Given the description of an element on the screen output the (x, y) to click on. 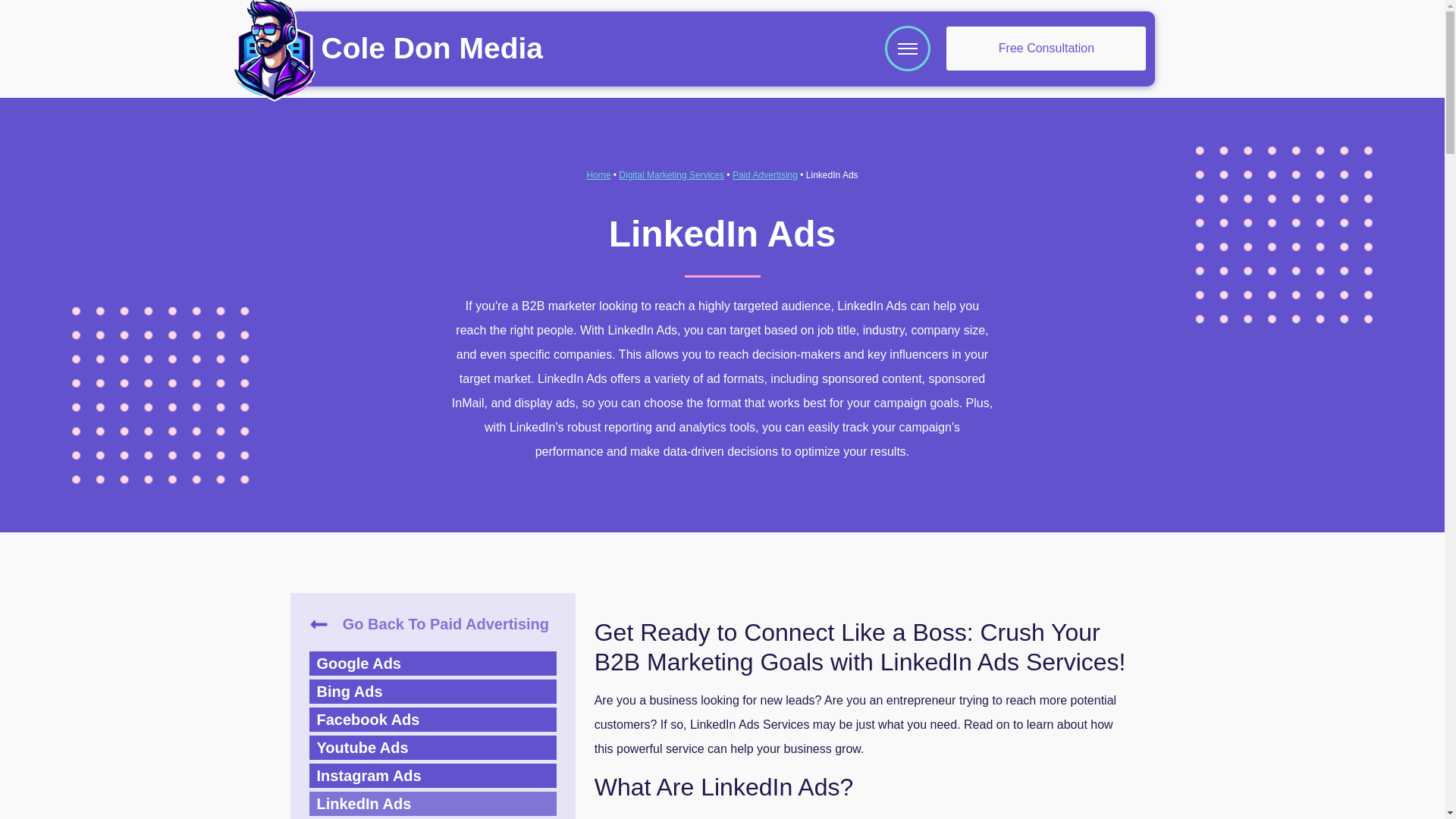
Cole Don Media (431, 47)
Free Consultation (1045, 48)
Instagram Ads (432, 775)
Google Ads (432, 663)
Bing Ads (432, 691)
Paid Advertising (764, 174)
Digital Marketing Services (670, 174)
Go Back To Paid Advertising (432, 623)
Facebook Ads (432, 719)
Home (598, 174)
